Given the description of an element on the screen output the (x, y) to click on. 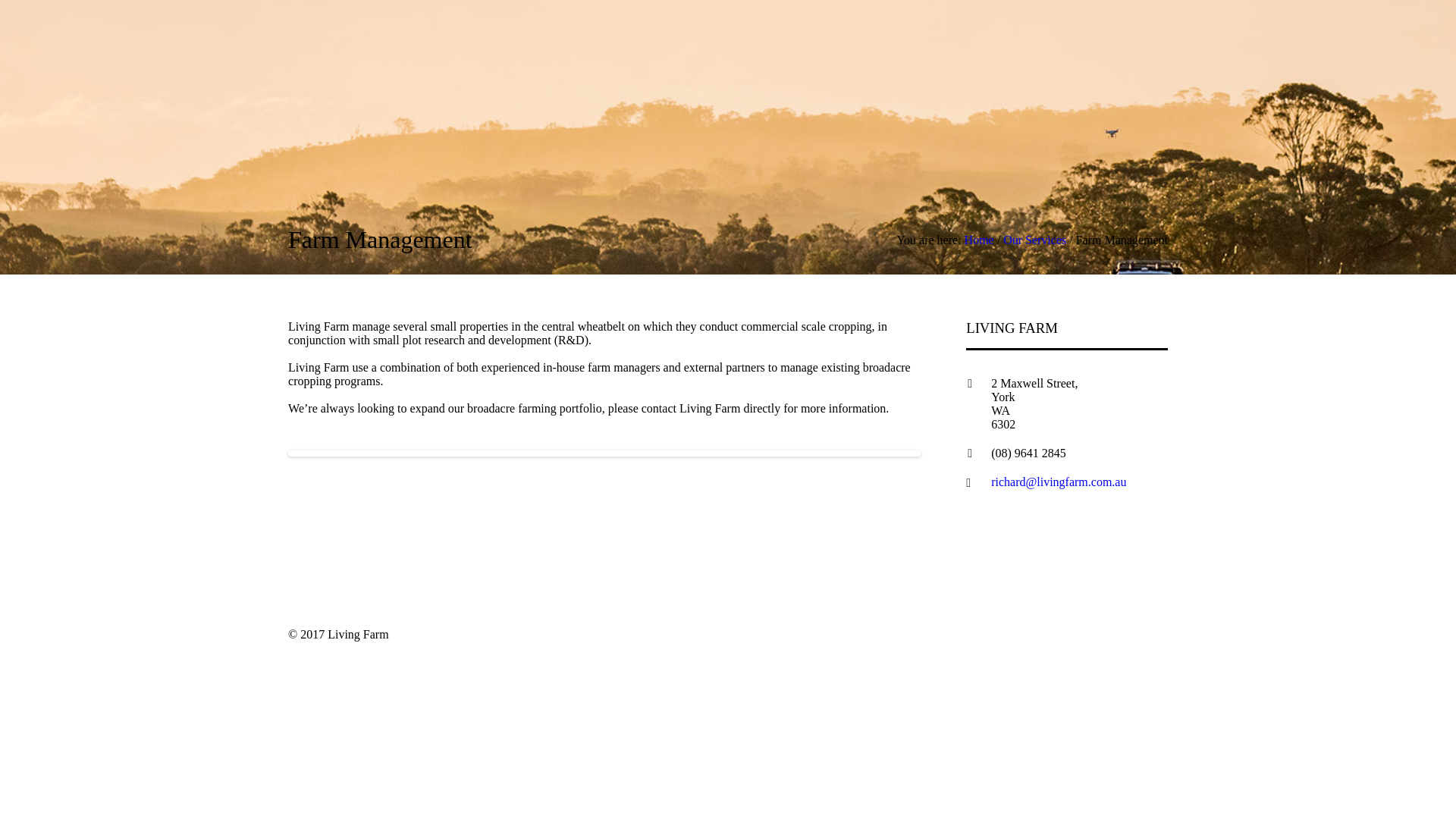
Home Element type: text (979, 239)
richard@livingfarm.com.au Element type: text (1058, 481)
Our Services Element type: text (1034, 239)
